Given the description of an element on the screen output the (x, y) to click on. 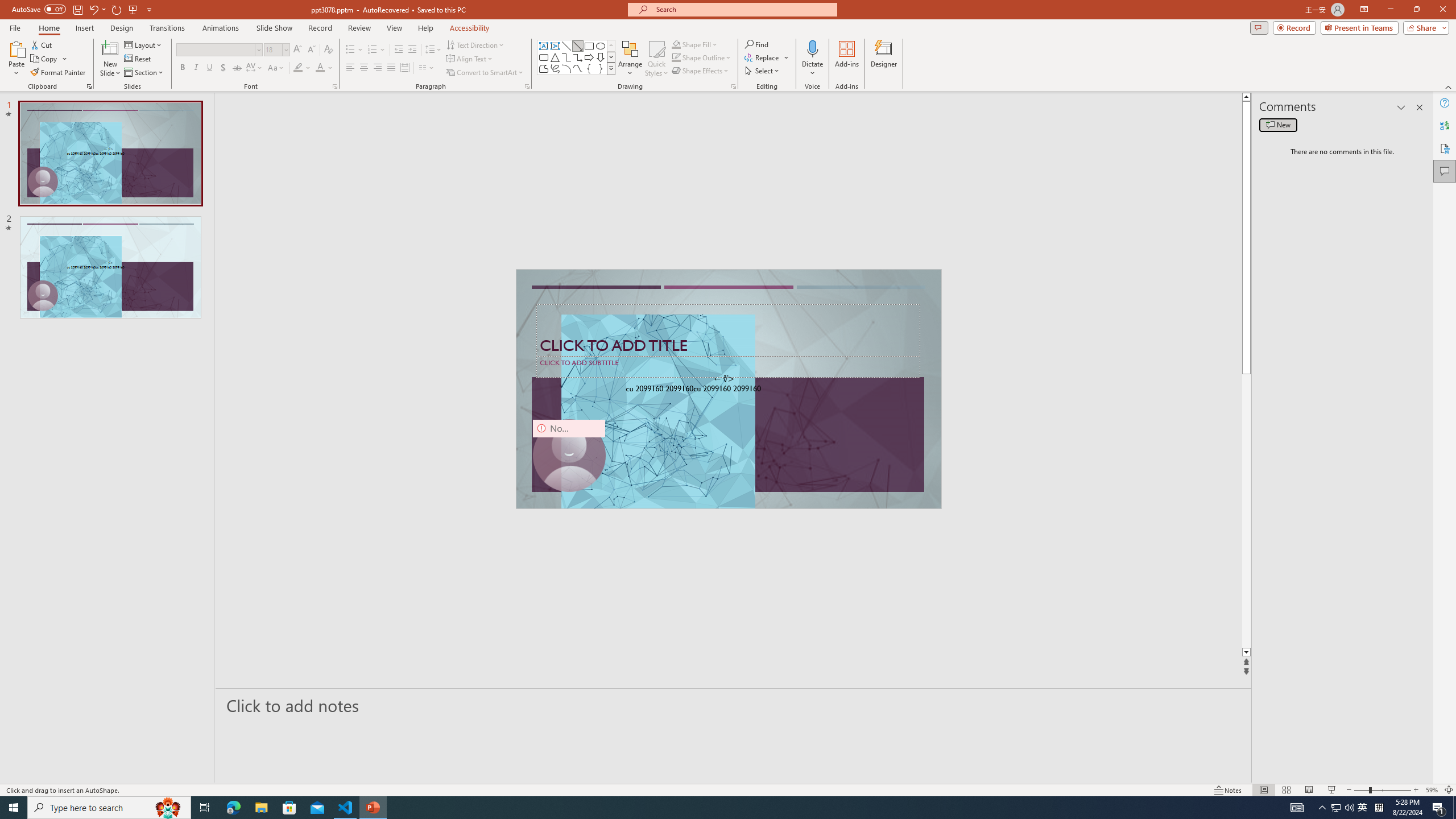
An abstract genetic concept (728, 388)
